Given the description of an element on the screen output the (x, y) to click on. 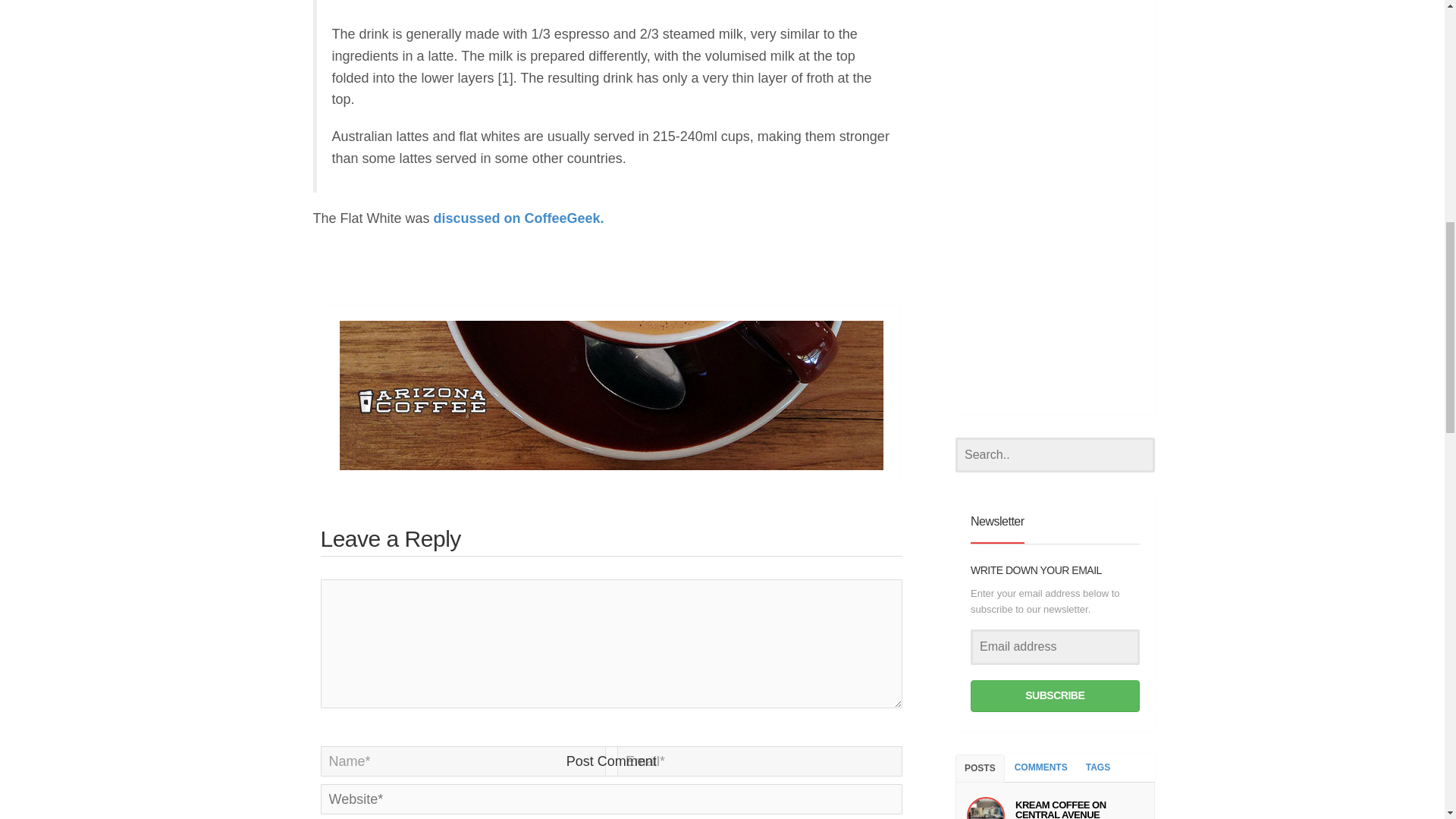
Advertisement (612, 4)
Post Comment (611, 761)
Post Comment (611, 761)
discussed on CoffeeGeek. (518, 218)
